Given the description of an element on the screen output the (x, y) to click on. 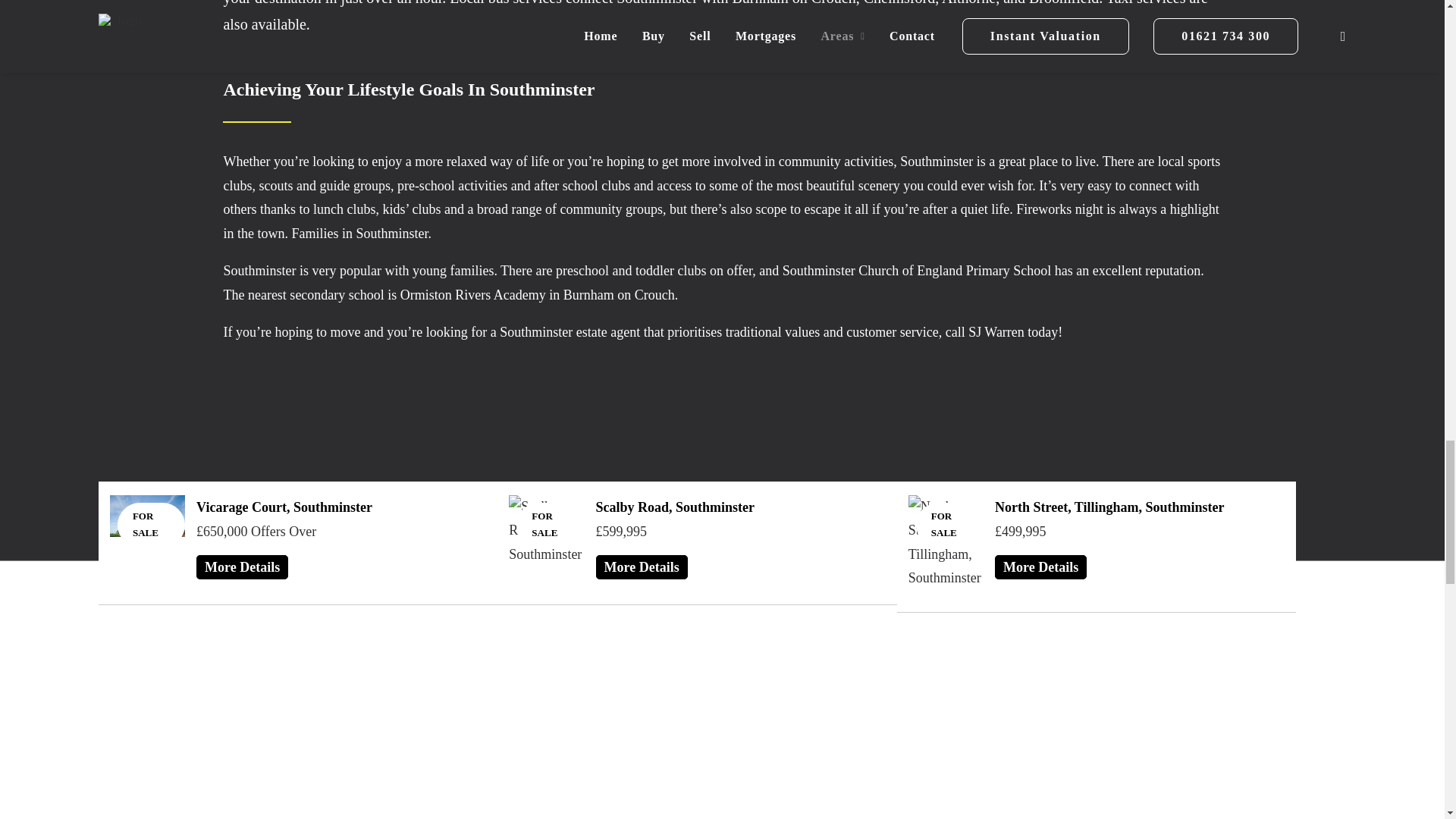
FOR SALE (545, 534)
More Details (242, 567)
Scalby Road, Southminster (675, 507)
Vicarage Court, Southminster (284, 507)
More Details (641, 567)
FOR SALE (147, 527)
